Given the description of an element on the screen output the (x, y) to click on. 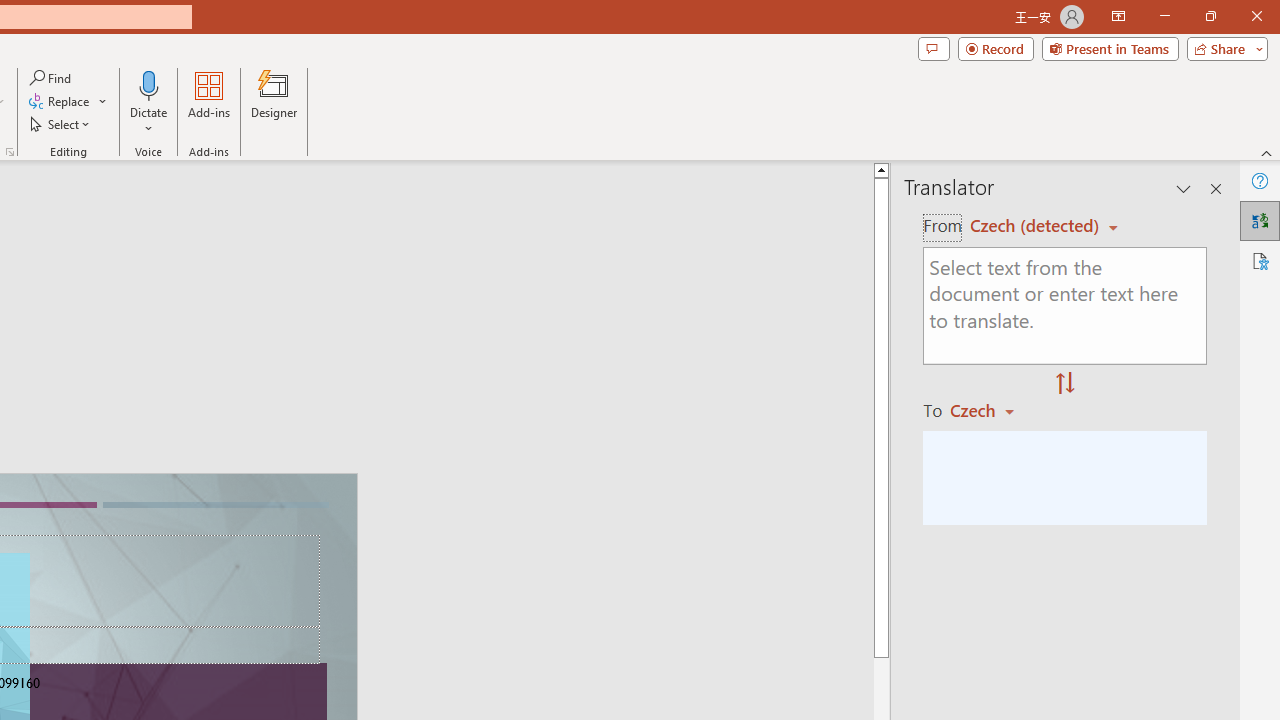
Czech (991, 409)
Swap "from" and "to" languages. (1065, 383)
